Given the description of an element on the screen output the (x, y) to click on. 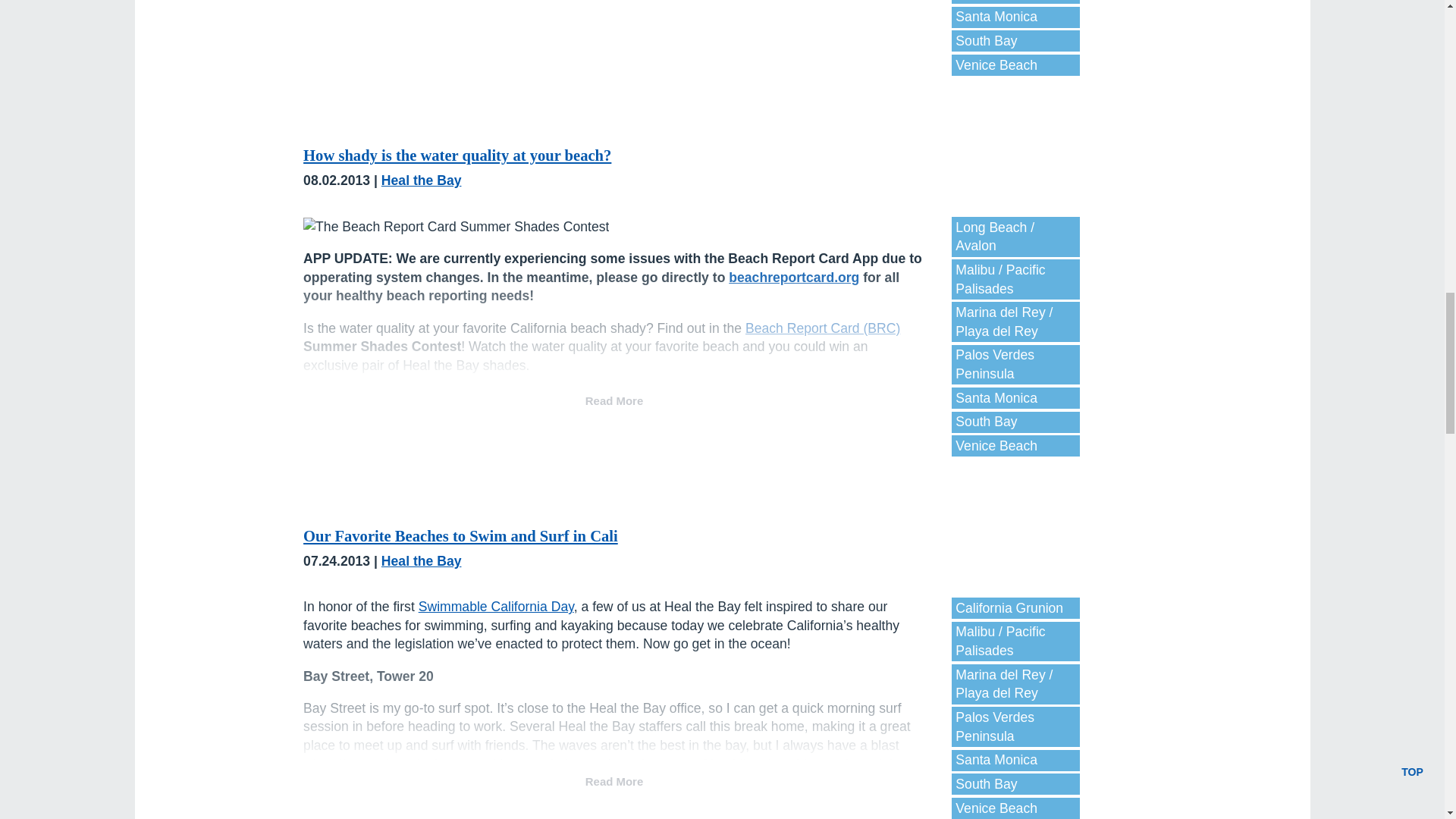
The Beach Report Card Summer Shades Contest (455, 226)
Permalink to How shady is the water quality at your beach? (456, 155)
Posts by Heal the Bay (421, 180)
